Given the description of an element on the screen output the (x, y) to click on. 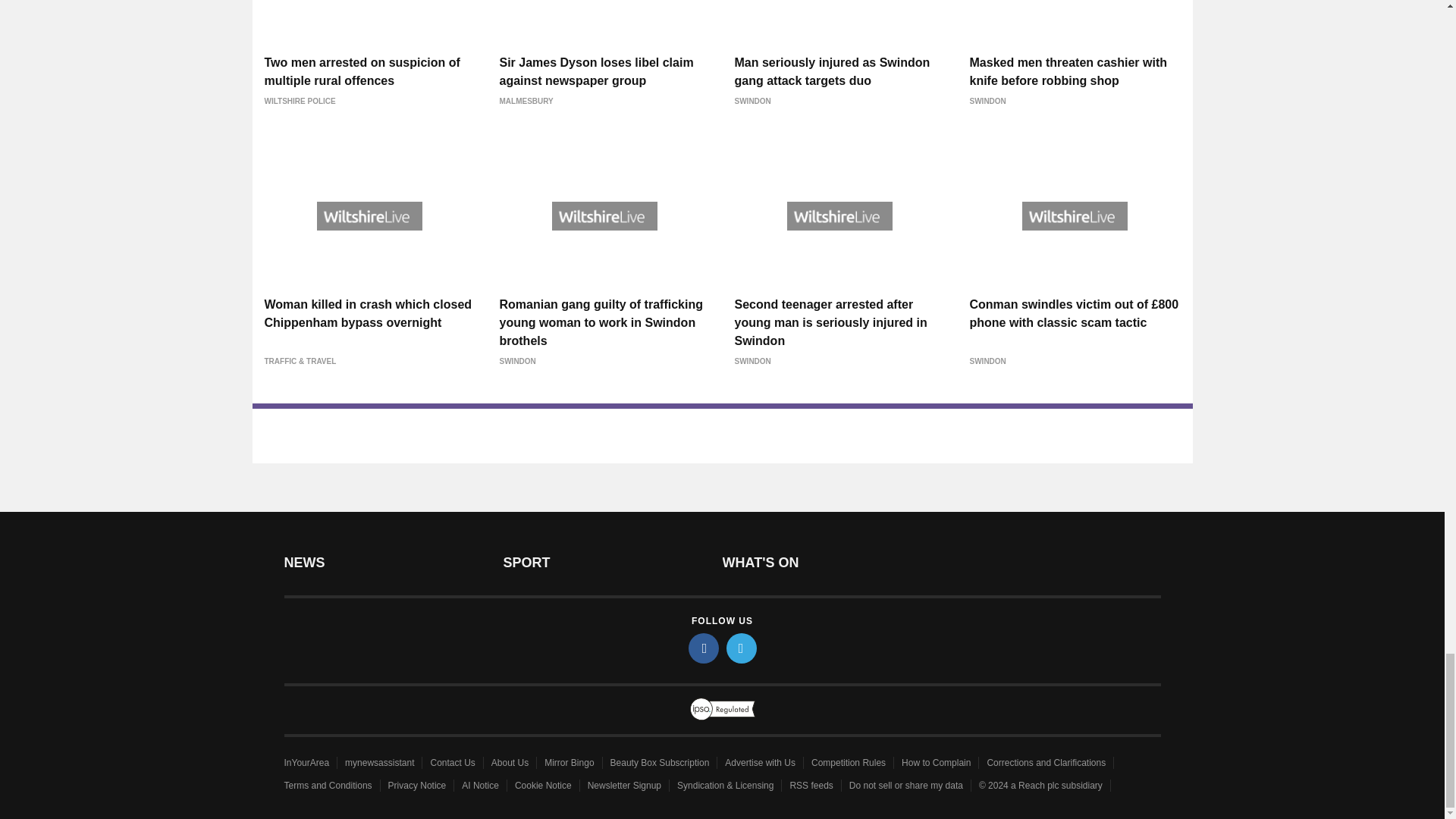
facebook (703, 648)
twitter (741, 648)
